Given the description of an element on the screen output the (x, y) to click on. 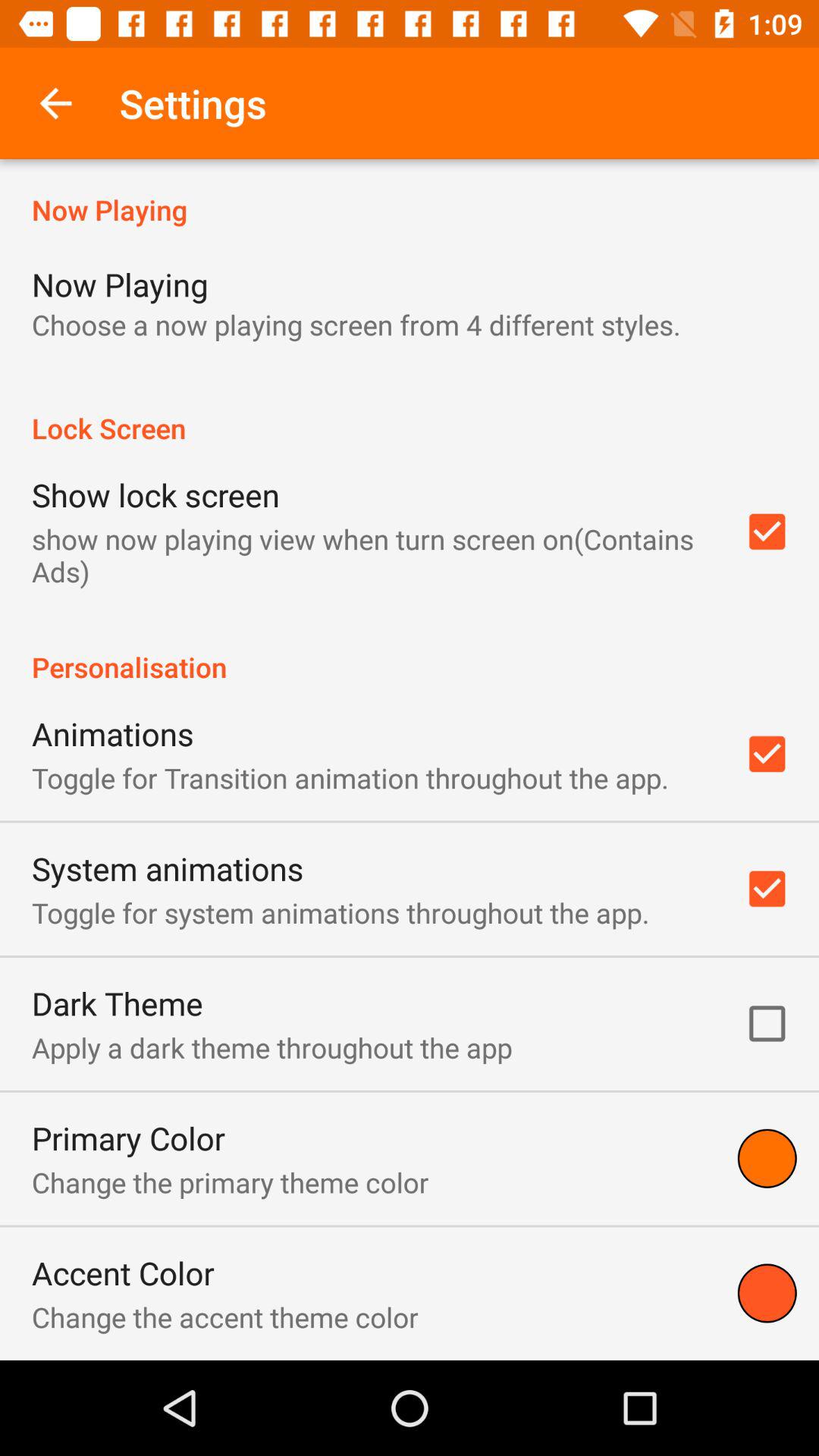
turn off item above the now playing (55, 103)
